Given the description of an element on the screen output the (x, y) to click on. 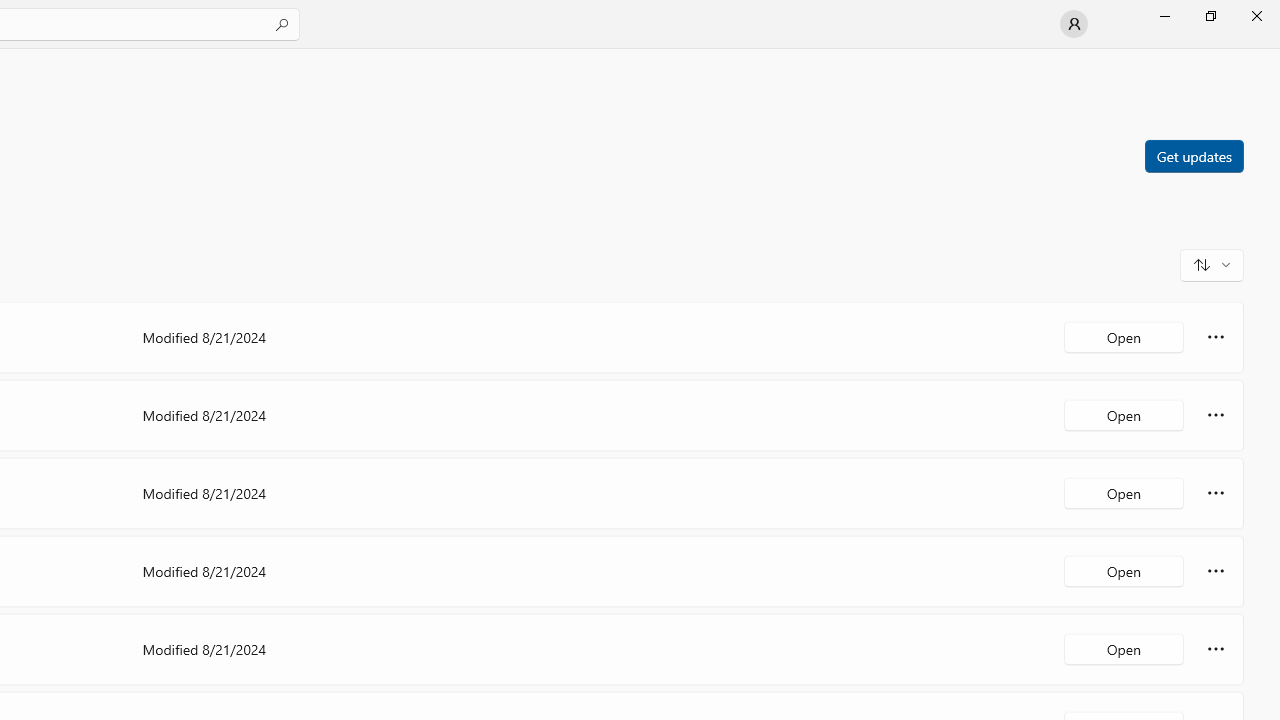
Sort and filter (1212, 263)
Open (1123, 648)
Get updates (1193, 155)
More options (1215, 648)
